Given the description of an element on the screen output the (x, y) to click on. 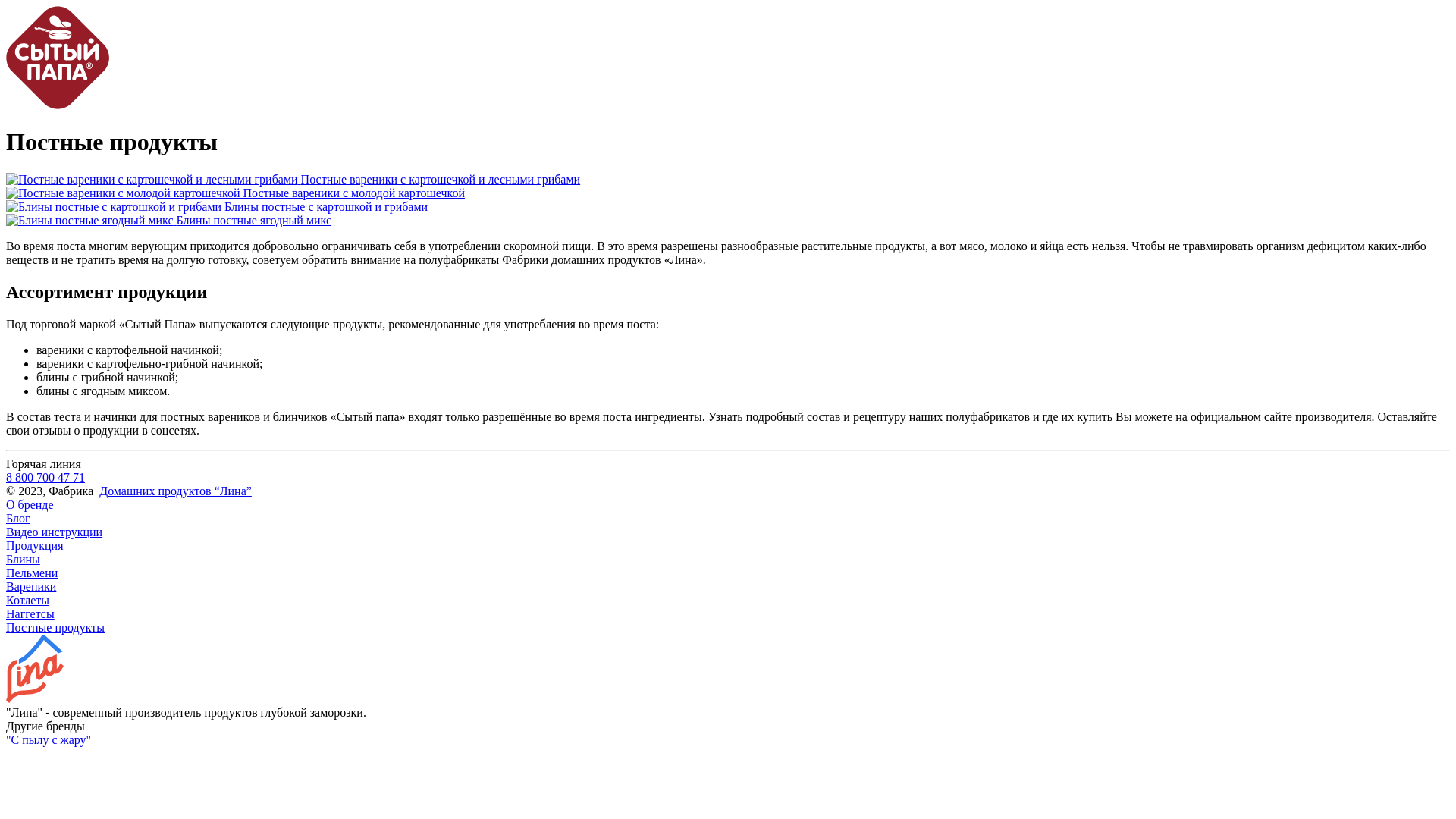
8 800 700 47 71 Element type: text (45, 476)
